Given the description of an element on the screen output the (x, y) to click on. 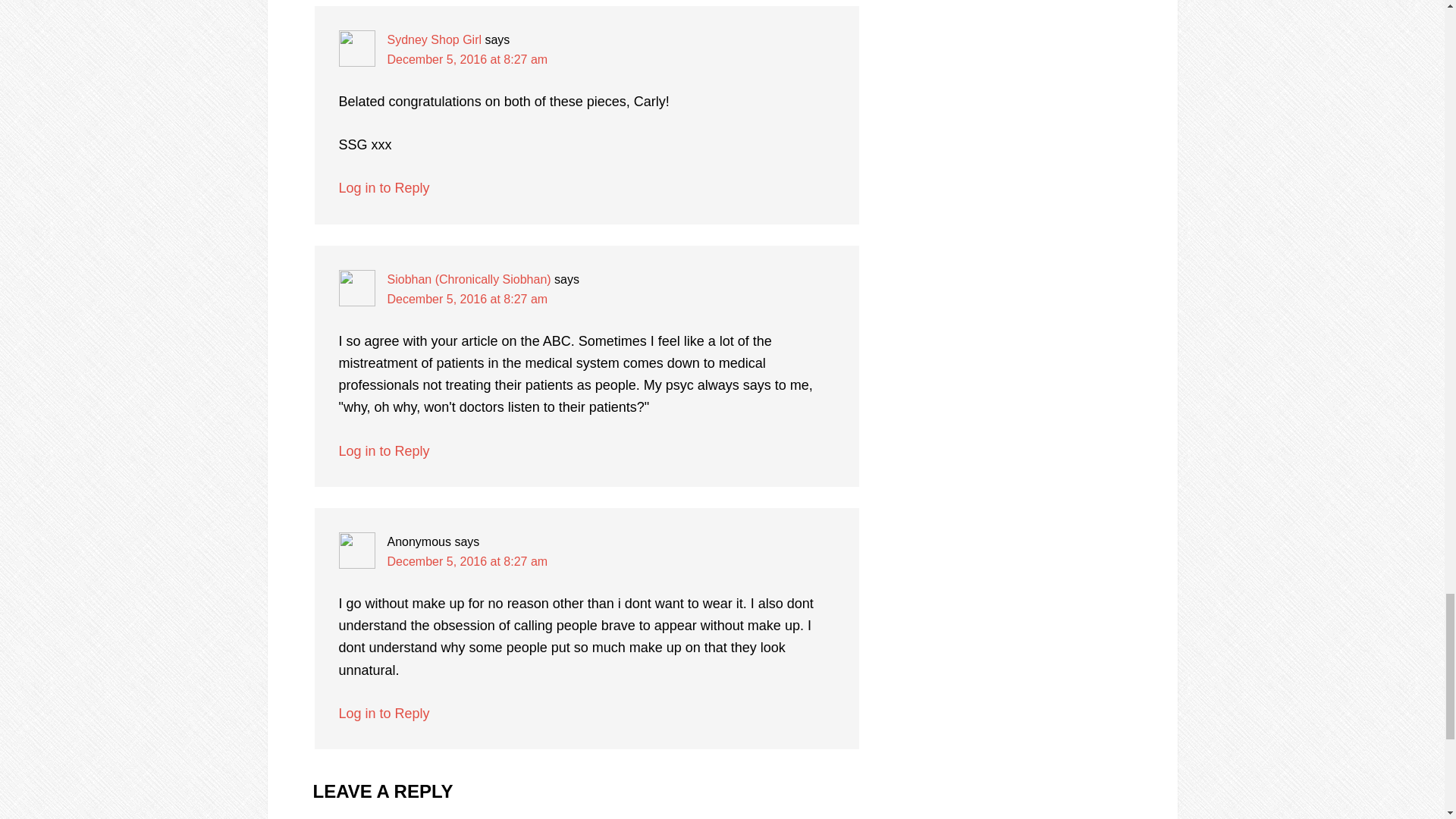
December 5, 2016 at 8:27 am (467, 561)
December 5, 2016 at 8:27 am (467, 298)
December 5, 2016 at 8:27 am (467, 59)
Log in to Reply (383, 450)
Log in to Reply (383, 187)
Sydney Shop Girl (434, 39)
